Given the description of an element on the screen output the (x, y) to click on. 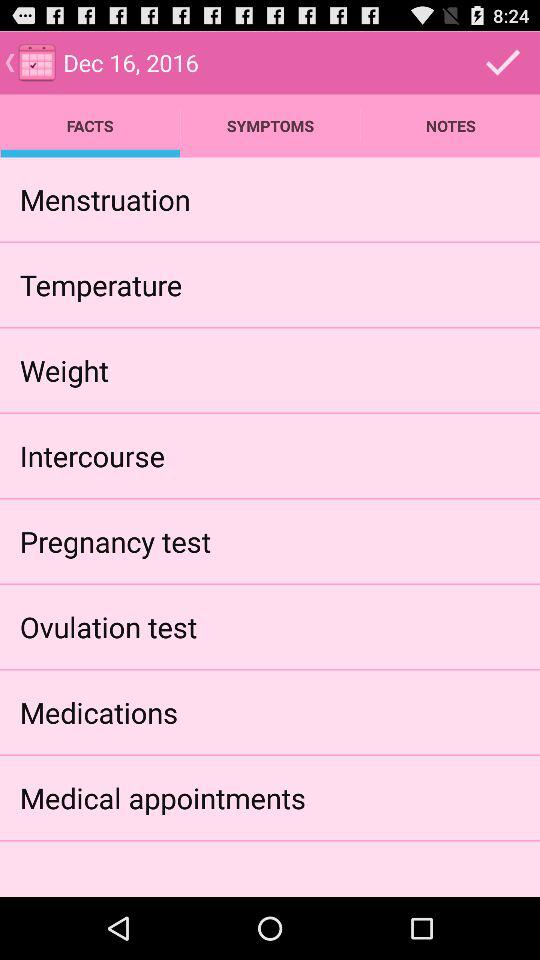
jump until menstruation item (104, 199)
